Given the description of an element on the screen output the (x, y) to click on. 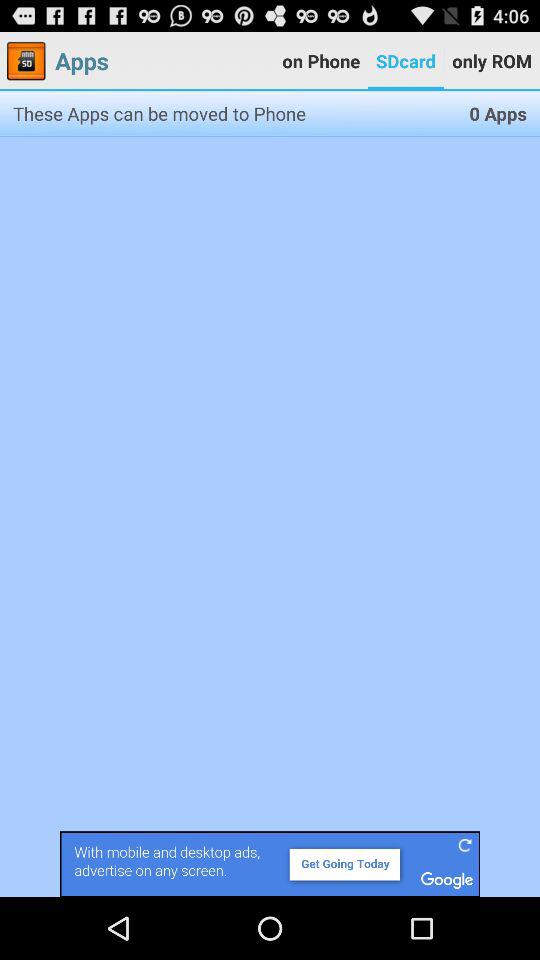
view this advertisement (270, 864)
